Given the description of an element on the screen output the (x, y) to click on. 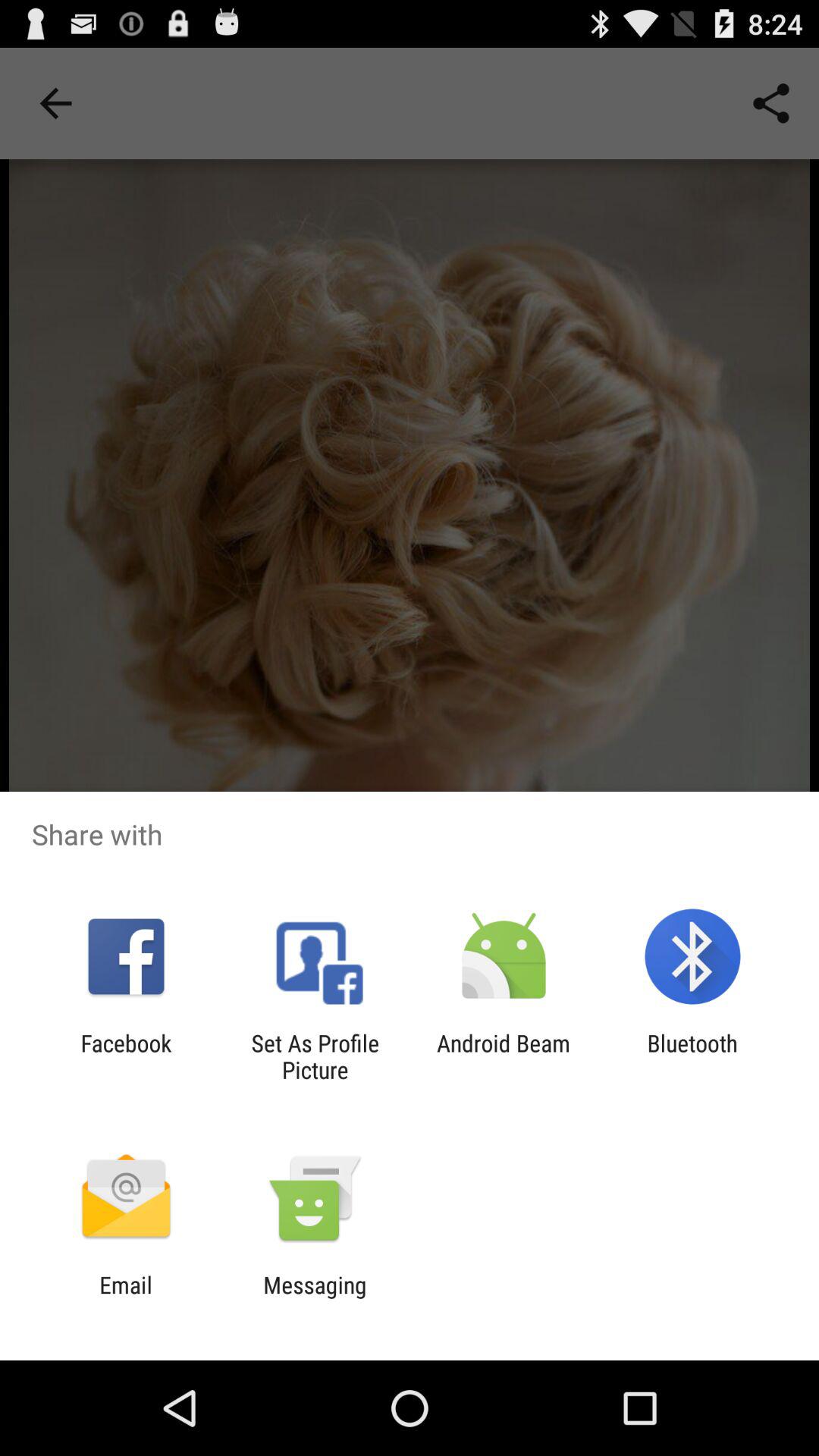
select the app to the left of android beam icon (314, 1056)
